Given the description of an element on the screen output the (x, y) to click on. 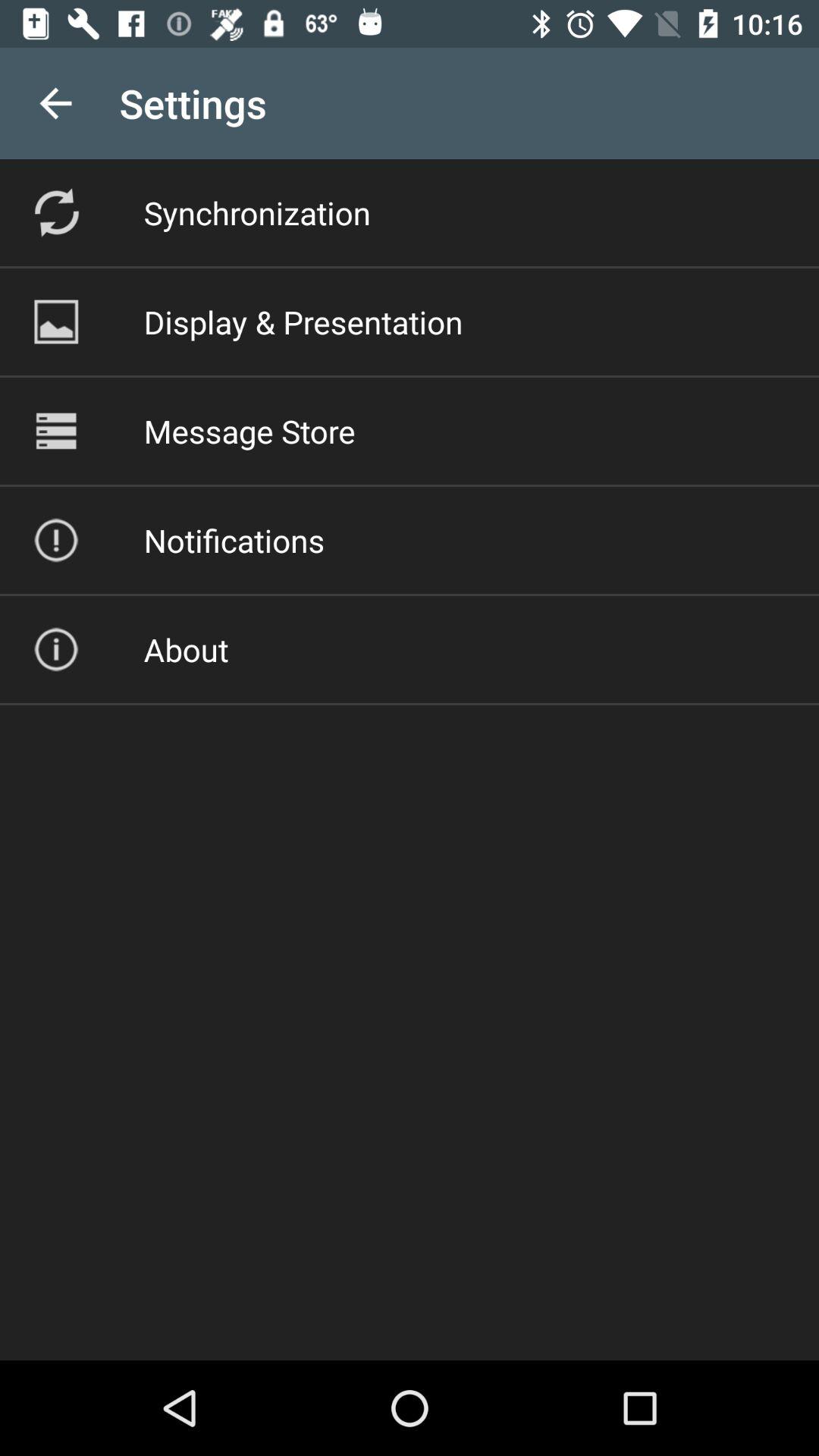
flip until display & presentation icon (302, 321)
